Given the description of an element on the screen output the (x, y) to click on. 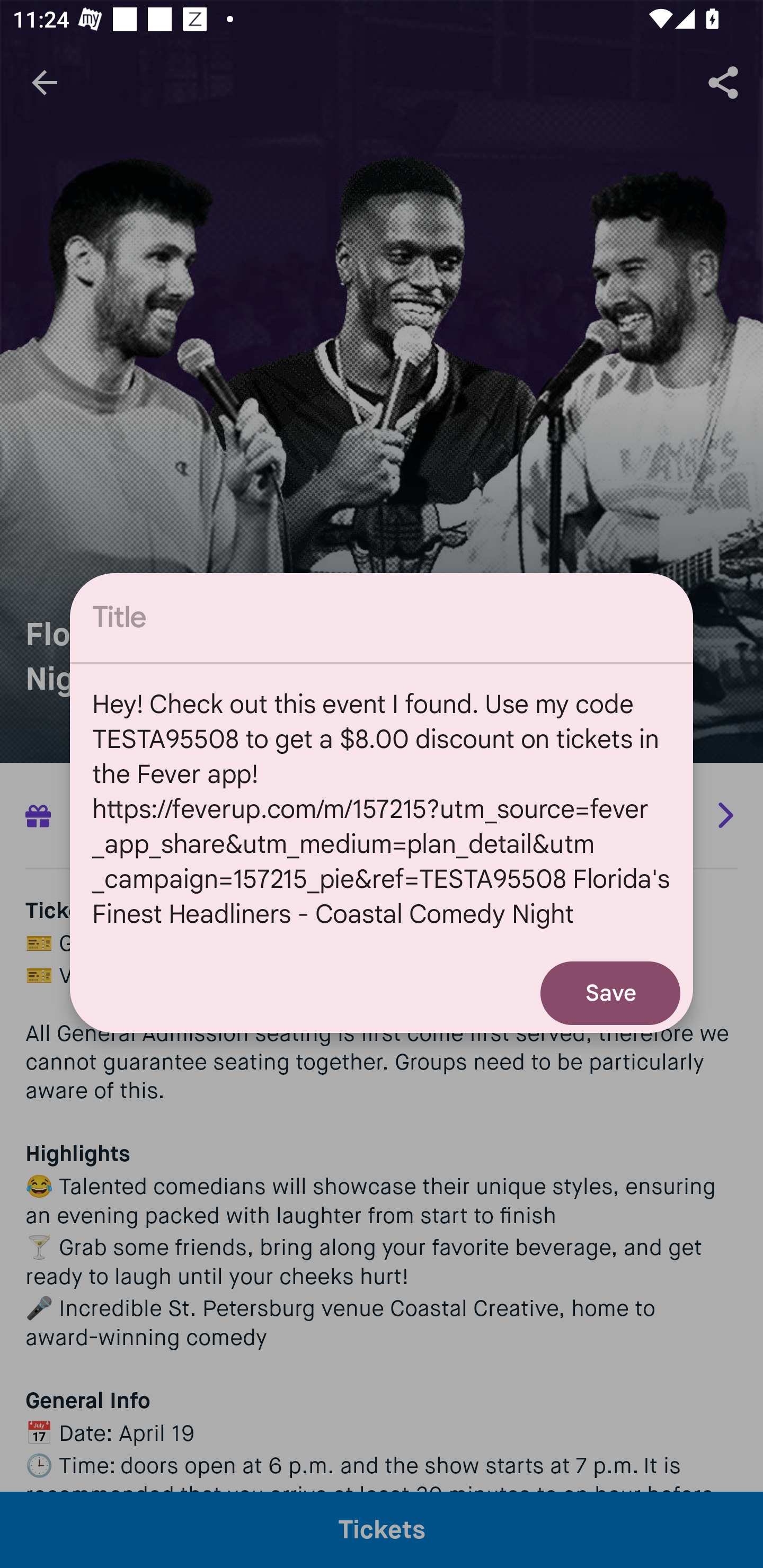
Title (381, 617)
Save (610, 992)
